Given the description of an element on the screen output the (x, y) to click on. 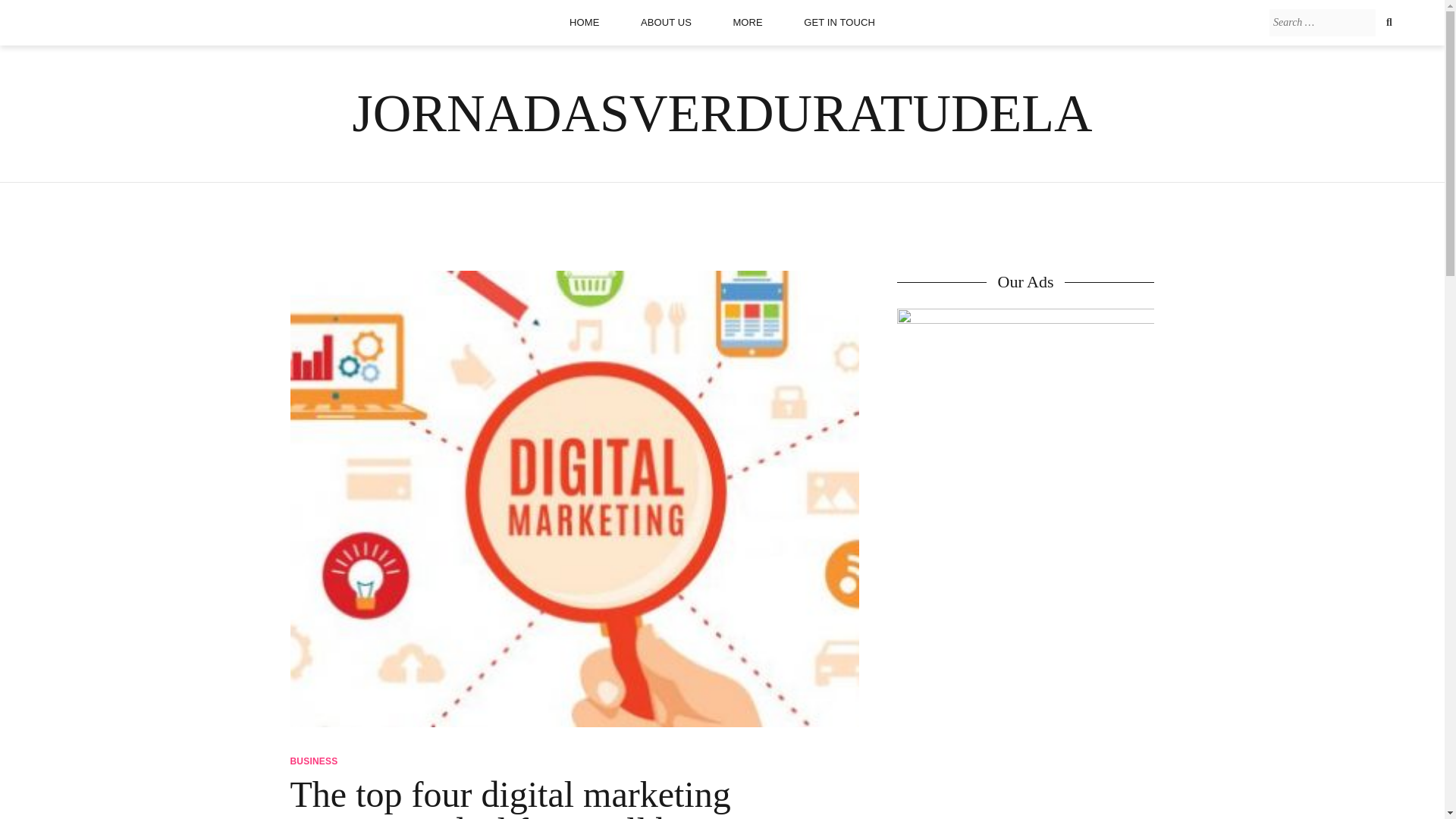
MORE (746, 22)
ABOUT US (665, 22)
BUSINESS (313, 760)
JORNADASVERDURATUDELA (722, 113)
GET IN TOUCH (838, 22)
HOME (583, 22)
